Given the description of an element on the screen output the (x, y) to click on. 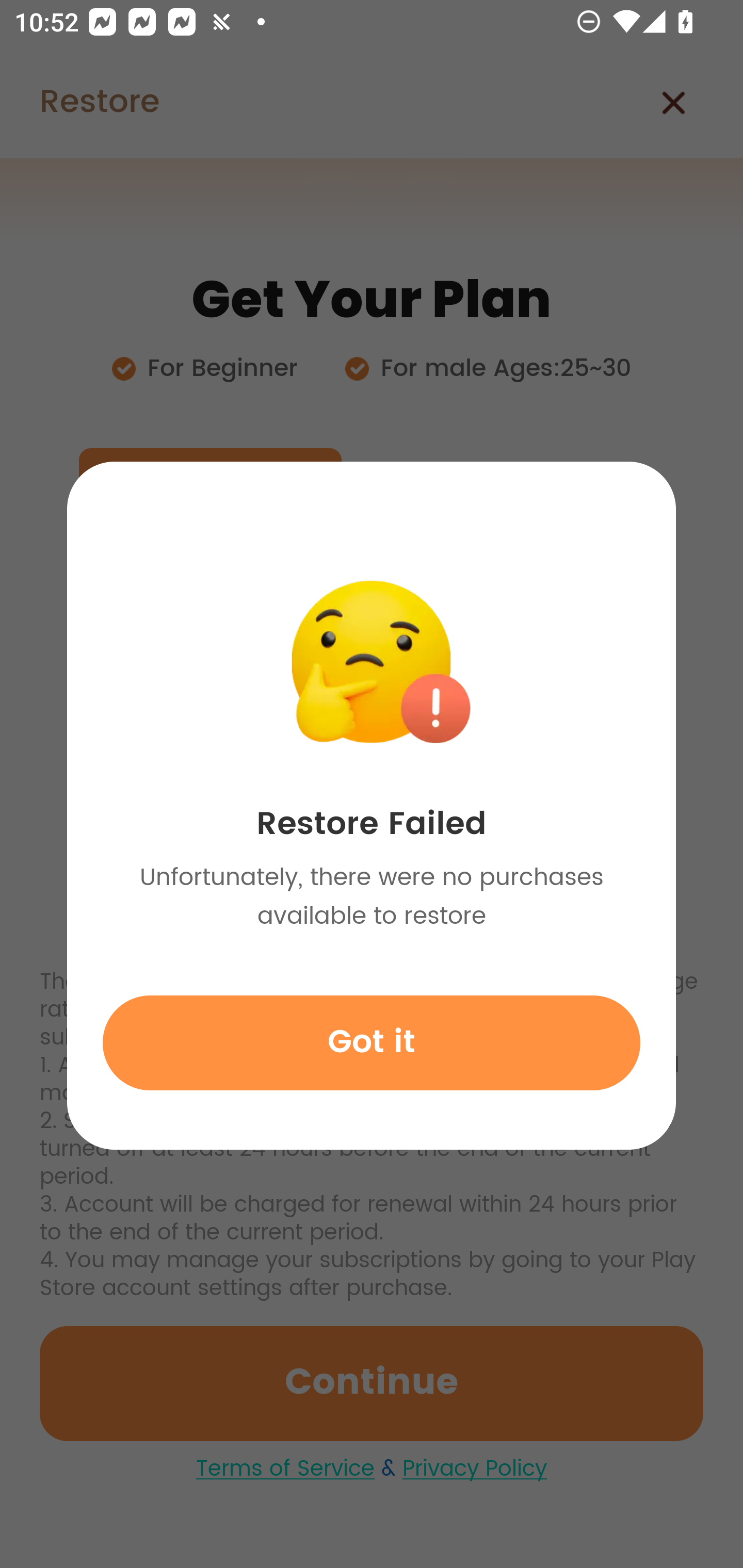
Got it (371, 1042)
